Given the description of an element on the screen output the (x, y) to click on. 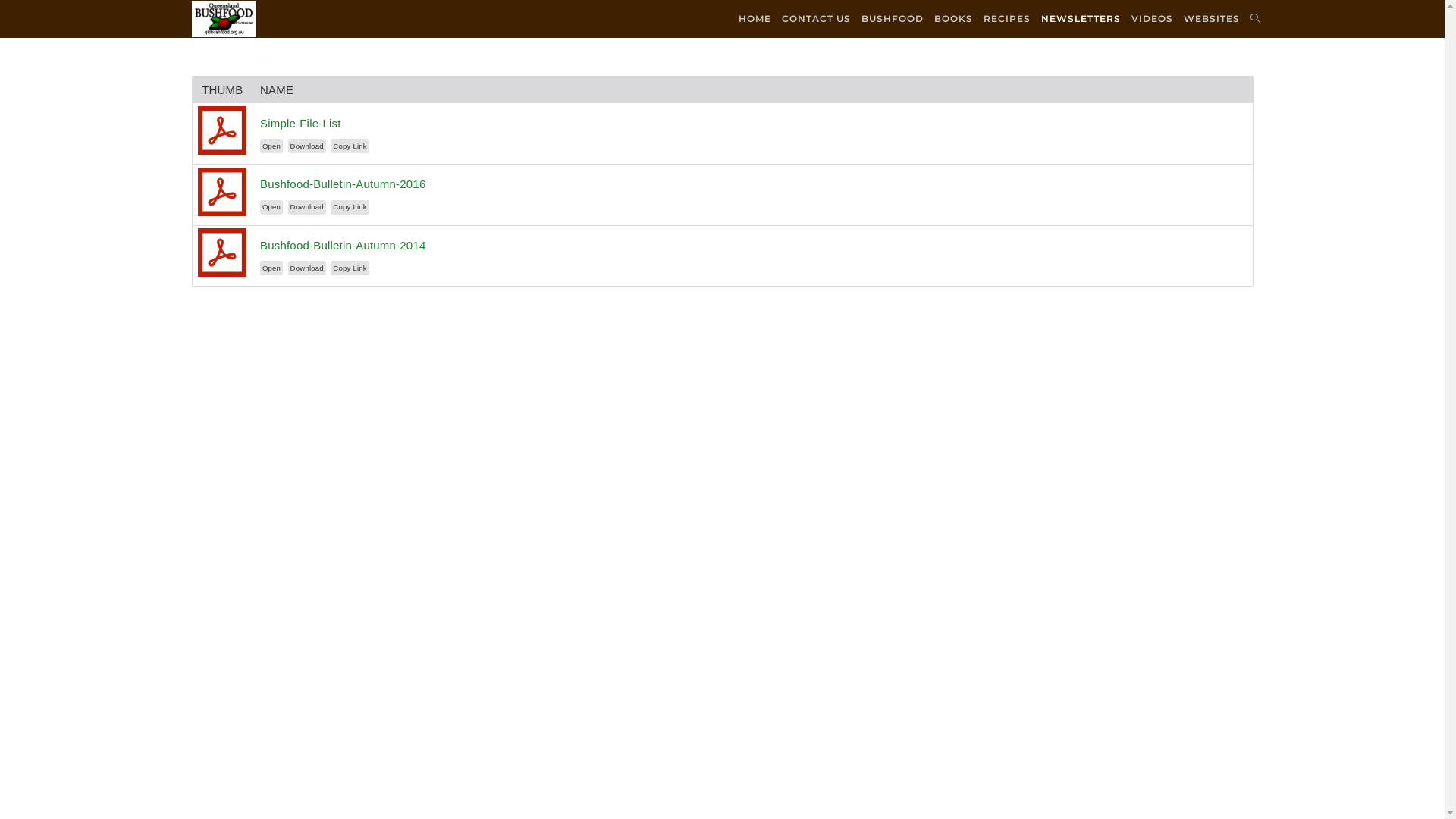
Open Element type: text (271, 267)
Copy Link Element type: text (349, 267)
Bushfood-Bulletin-Autumn-2014 Element type: text (342, 244)
BOOKS Element type: text (952, 18)
VIDEOS Element type: text (1151, 18)
WEBSITES Element type: text (1211, 18)
Download Element type: text (307, 267)
Bushfood-Bulletin-Autumn-2016 Element type: text (342, 183)
NEWSLETTERS Element type: text (1080, 18)
Copy Link Element type: text (349, 207)
BUSHFOOD Element type: text (891, 18)
Download Element type: text (307, 145)
Copy Link Element type: text (349, 145)
Download Element type: text (307, 207)
RECIPES Element type: text (1006, 18)
Simple-File-List Element type: text (300, 122)
HOME Element type: text (753, 18)
CONTACT US Element type: text (816, 18)
Open Element type: text (271, 145)
Open Element type: text (271, 207)
